Given the description of an element on the screen output the (x, y) to click on. 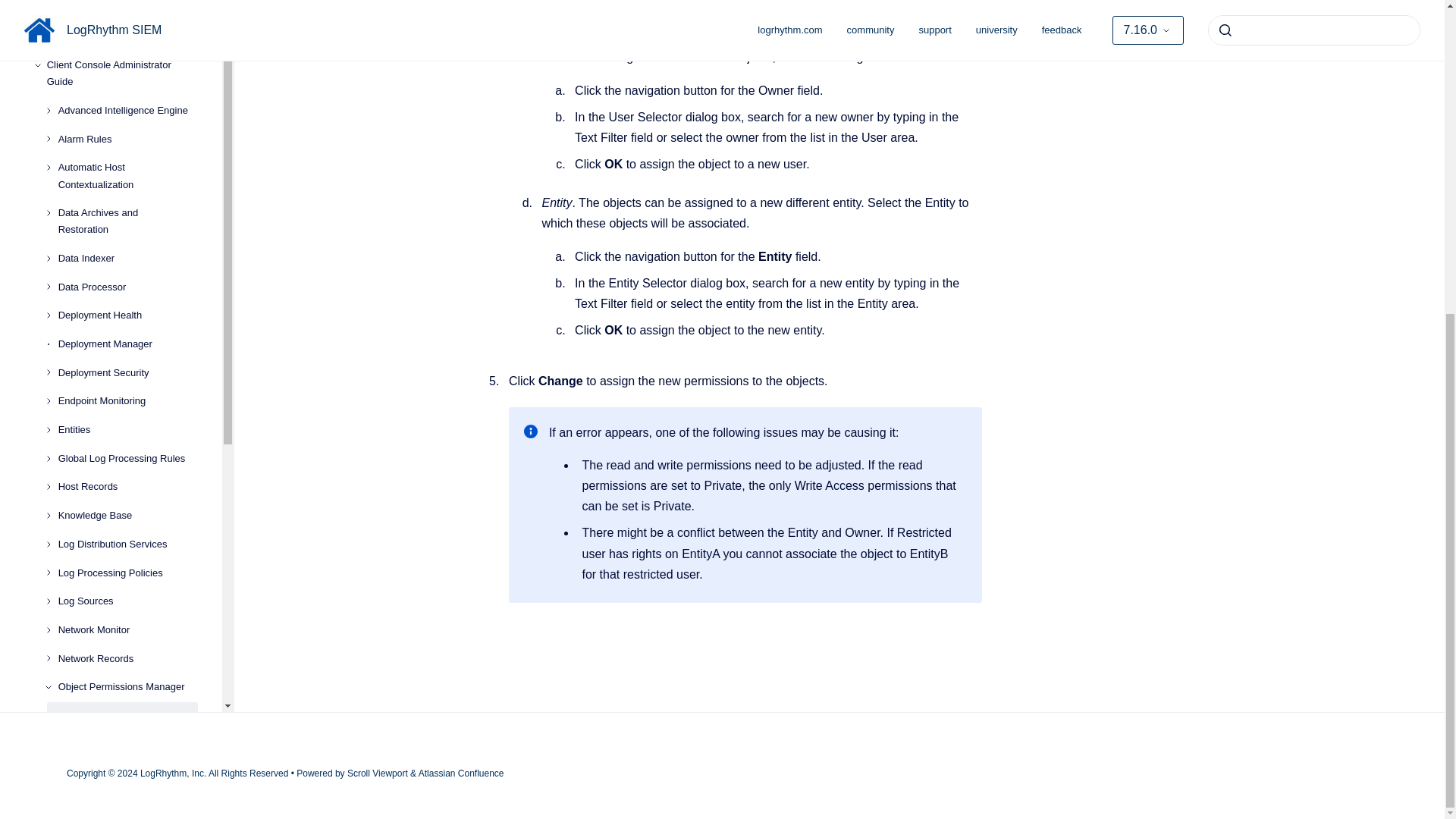
Endpoint Monitoring (128, 10)
Entities (128, 35)
Global Log Processing Rules (128, 63)
